Given the description of an element on the screen output the (x, y) to click on. 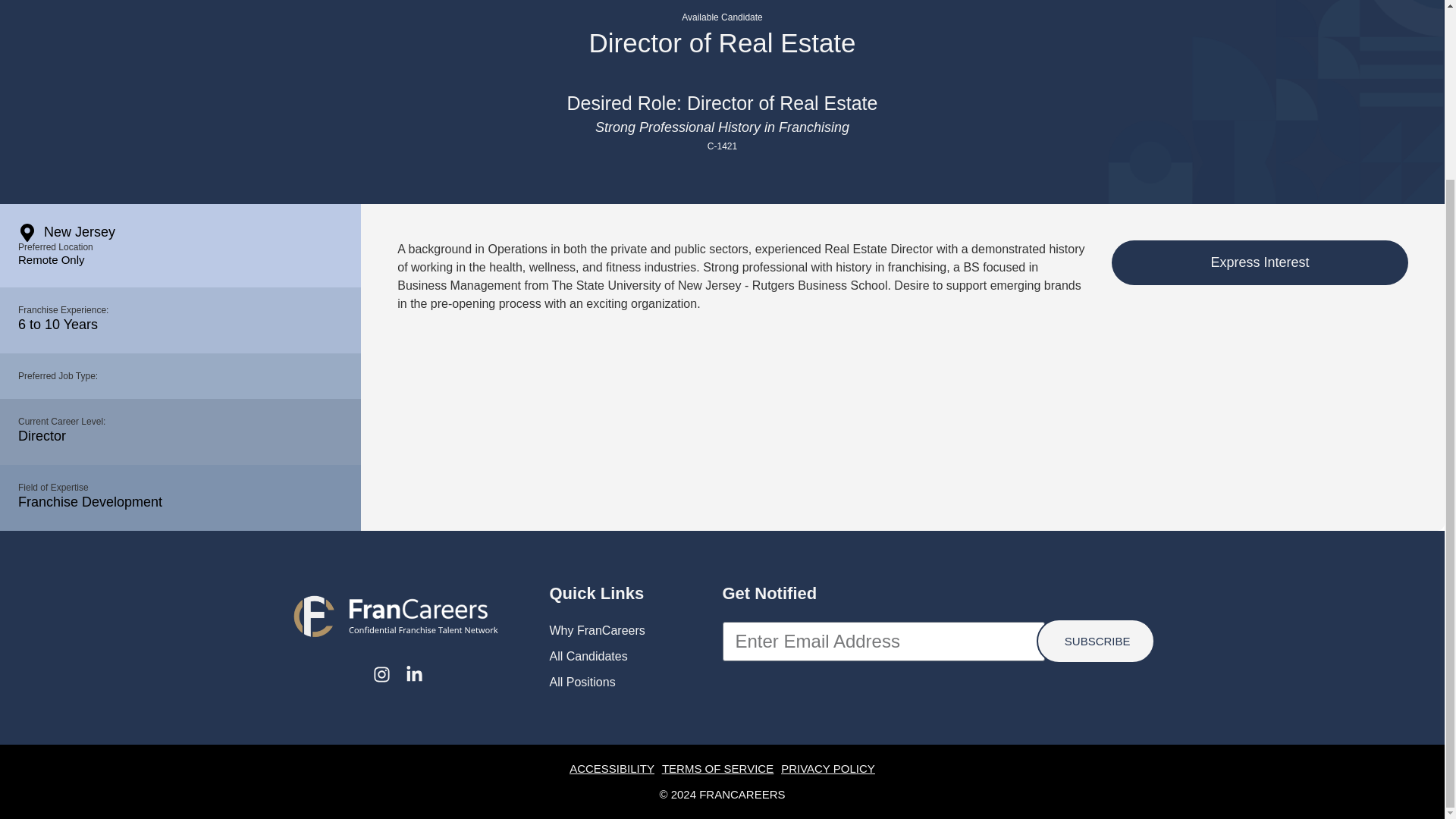
SUBSCRIBE (1095, 641)
ACCESSIBILITY (611, 767)
All Positions (635, 682)
All Candidates (635, 656)
TERMS OF SERVICE (717, 767)
Why FranCareers (635, 630)
PRIVACY POLICY (827, 767)
Express Interest (1259, 262)
